Given the description of an element on the screen output the (x, y) to click on. 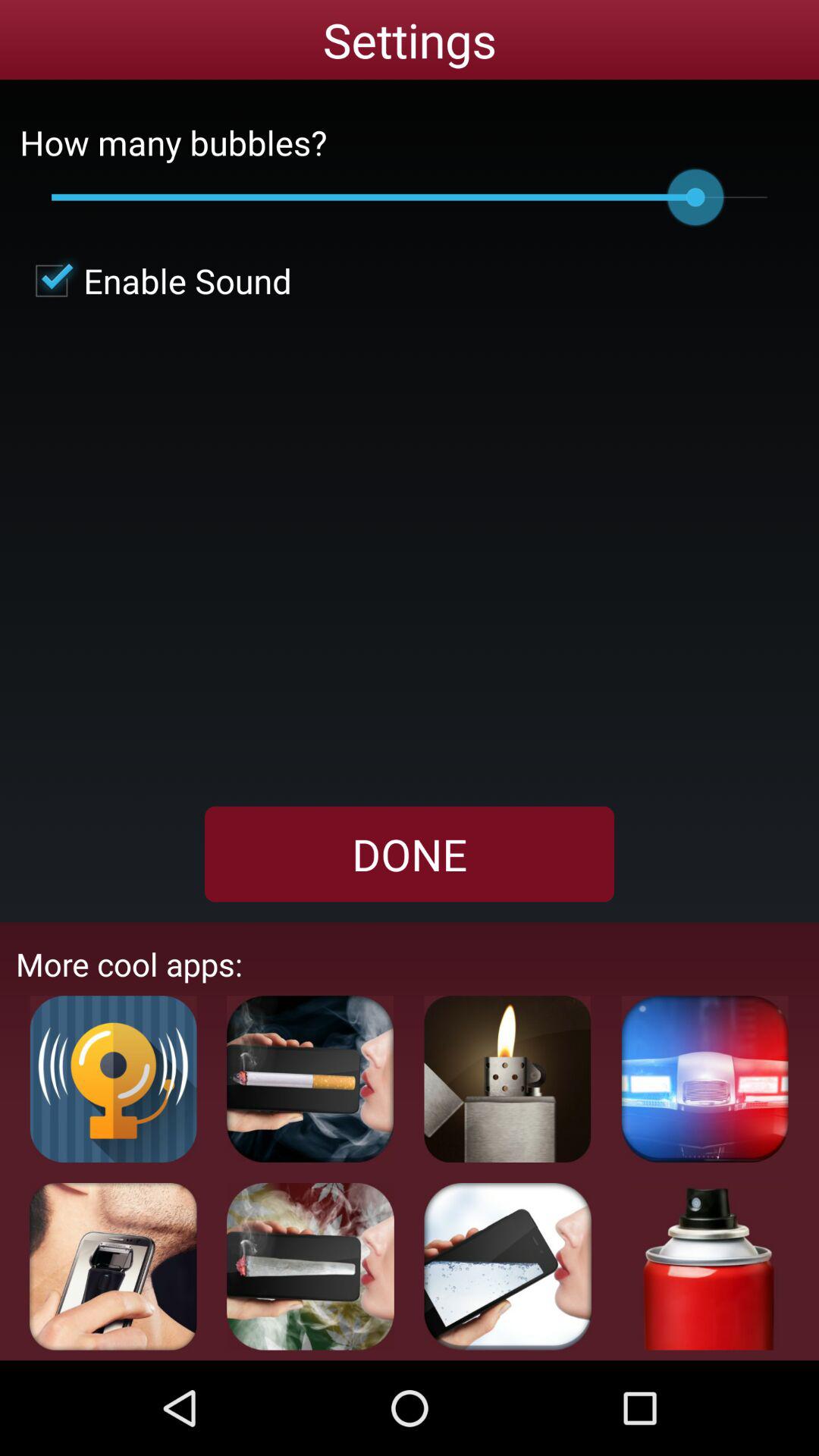
click the checkbox below the enable sound item (409, 854)
